Given the description of an element on the screen output the (x, y) to click on. 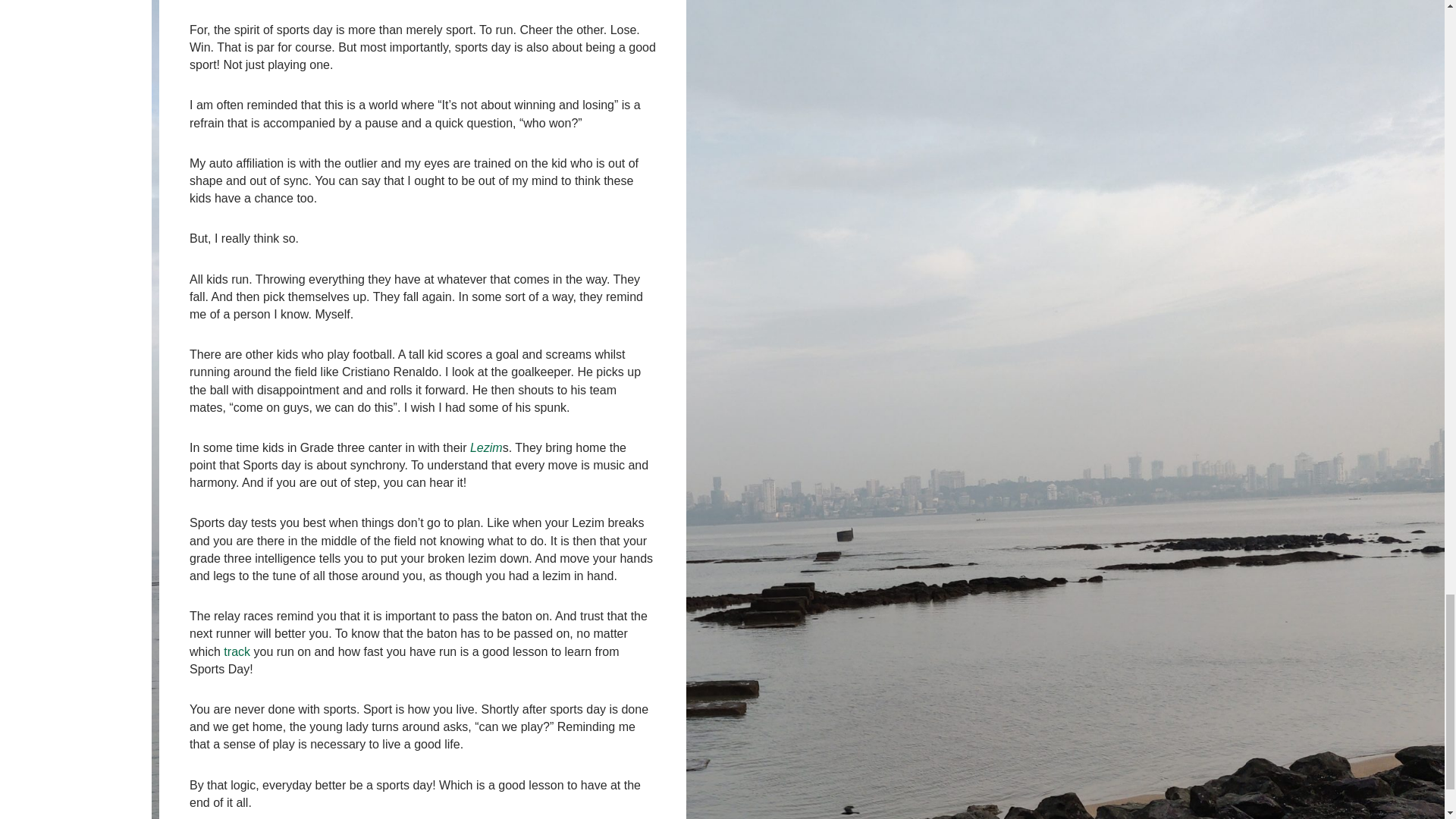
Lezim (486, 447)
